Given the description of an element on the screen output the (x, y) to click on. 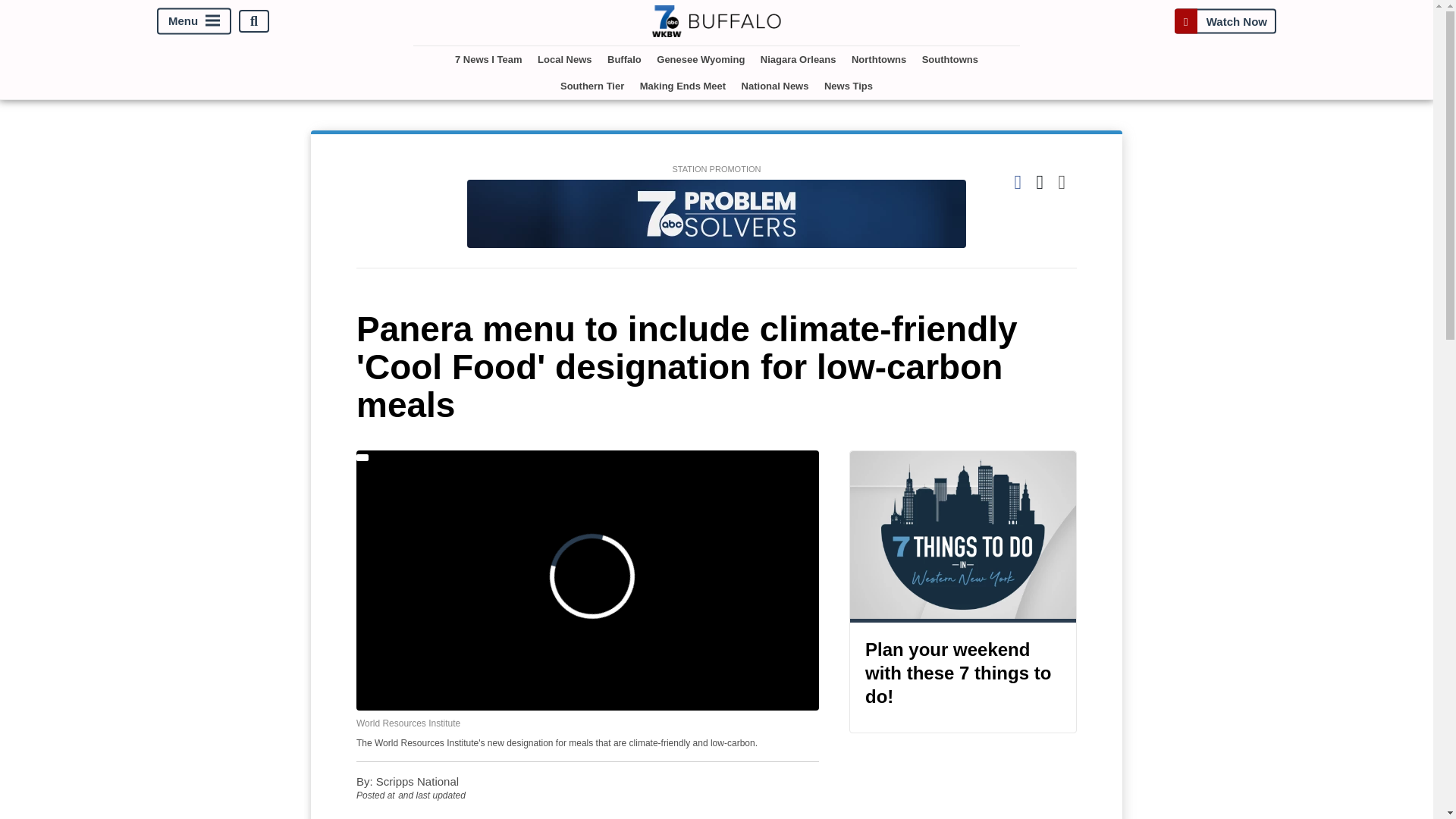
Watch Now (1224, 21)
Menu (194, 21)
